Given the description of an element on the screen output the (x, y) to click on. 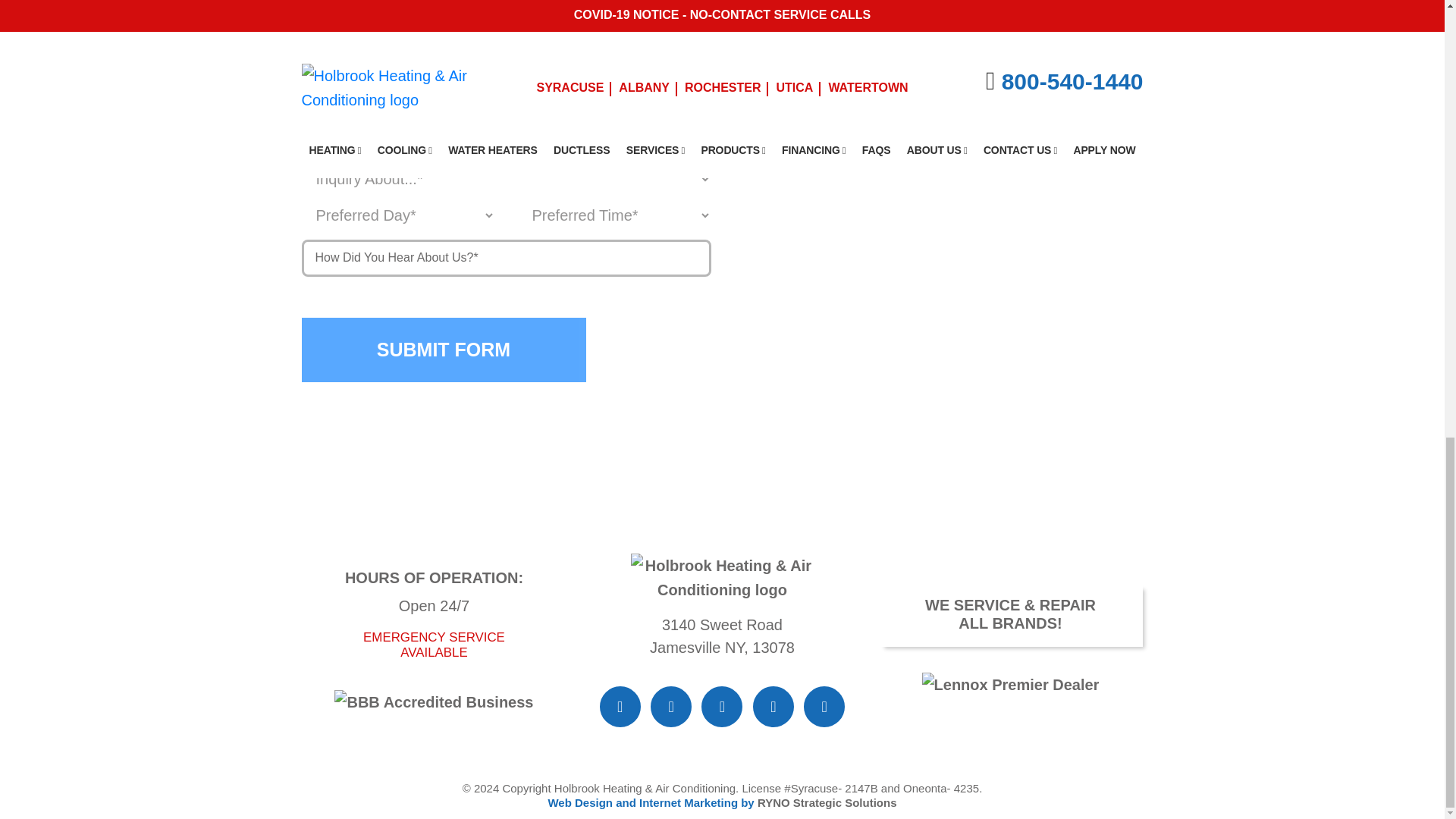
Submit Form (443, 349)
